Given the description of an element on the screen output the (x, y) to click on. 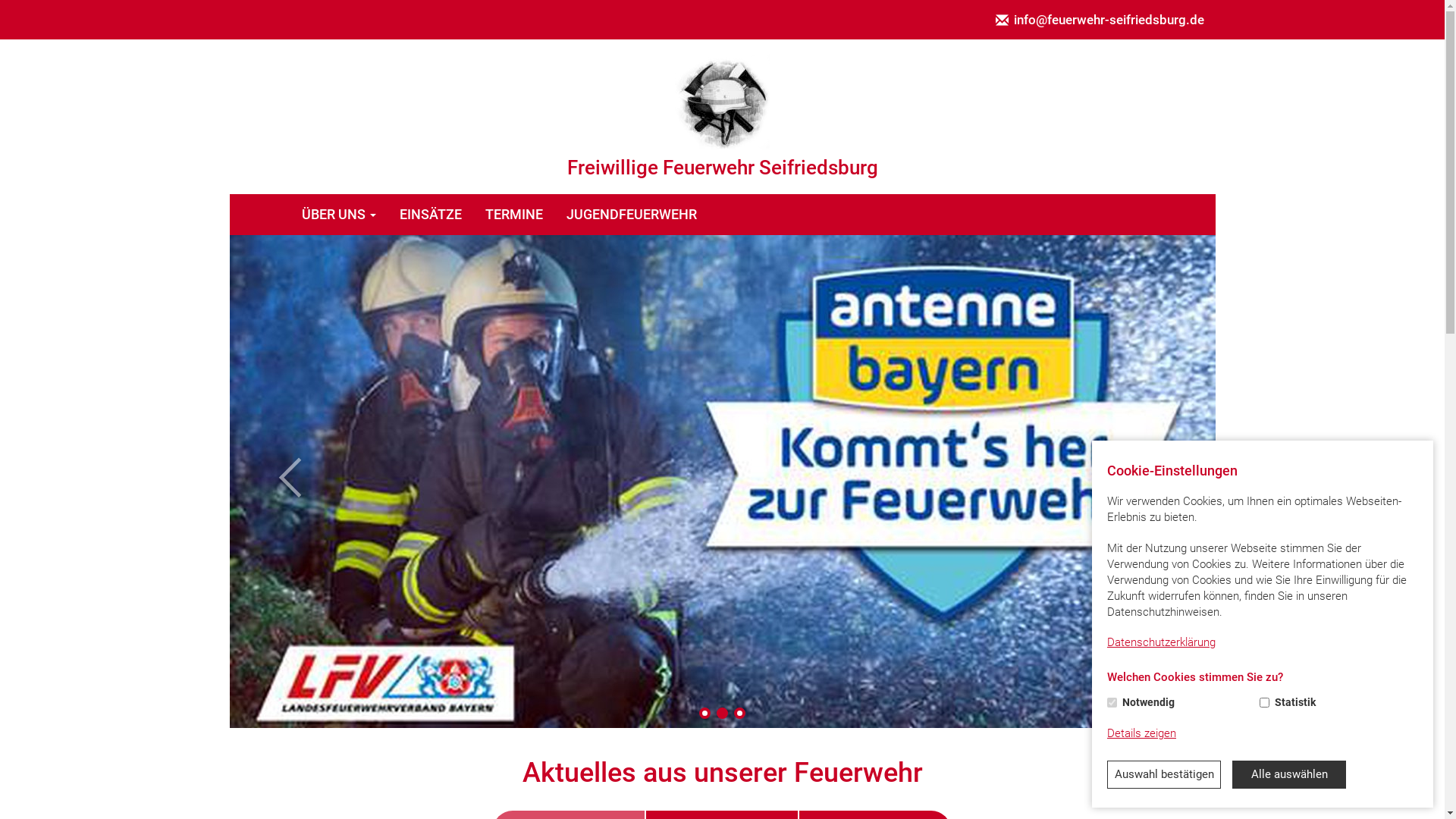
Freiwillige Feuerwehr Seifriedsburg Element type: hover (721, 101)
info@feuerwehr-seifriedsburg.de Element type: text (1099, 19)
Freiwillige Feuerwehr Seifriedsburg Element type: text (721, 116)
TERMINE Element type: text (513, 214)
Details zeigen Element type: text (1141, 733)
JUGENDFEUERWEHR Element type: text (632, 214)
